Given the description of an element on the screen output the (x, y) to click on. 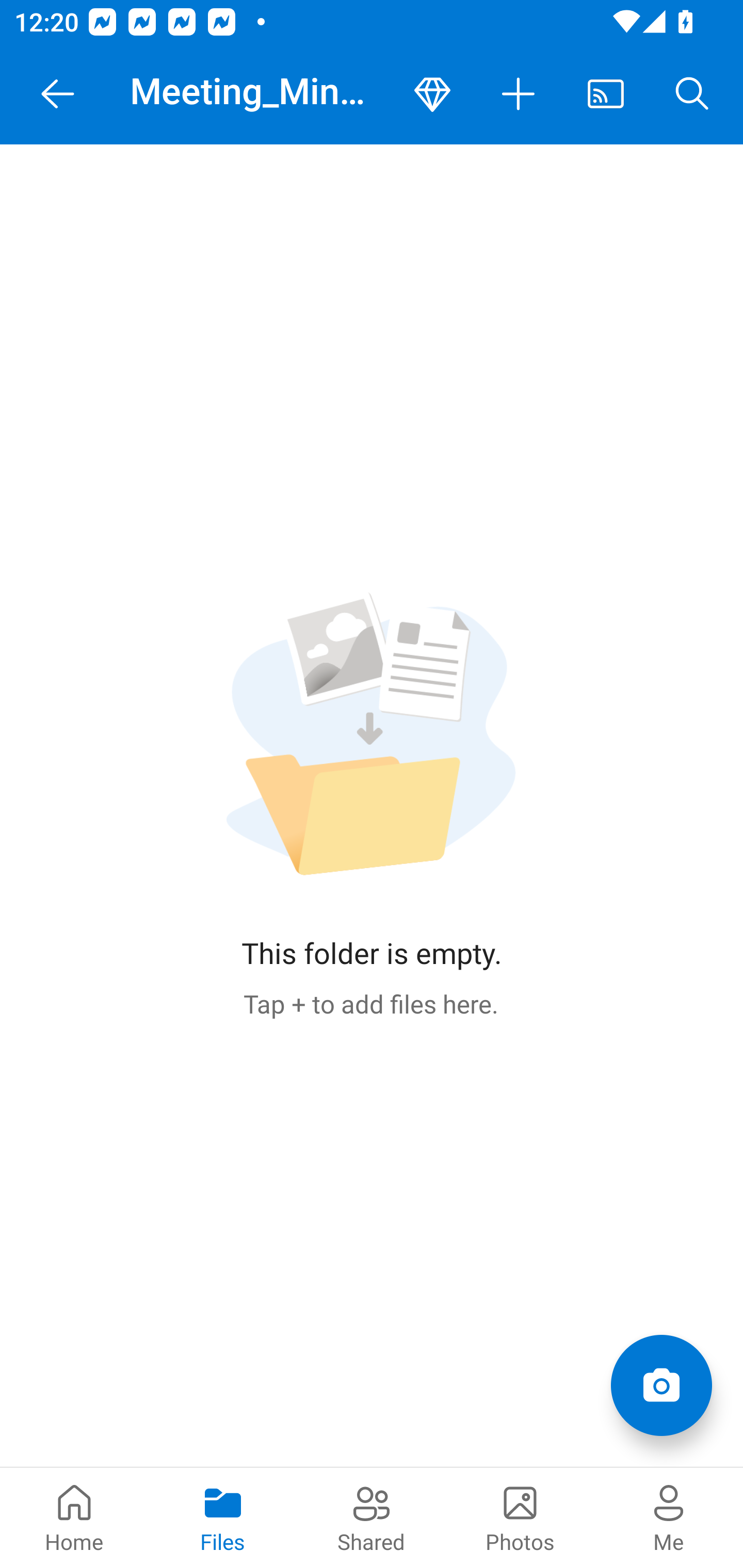
Navigate Up (57, 93)
Cast. Disconnected (605, 93)
Premium button (432, 93)
More actions button (518, 93)
Search button (692, 93)
Add items Scan (660, 1385)
Home pivot Home (74, 1517)
Shared pivot Shared (371, 1517)
Photos pivot Photos (519, 1517)
Me pivot Me (668, 1517)
